Given the description of an element on the screen output the (x, y) to click on. 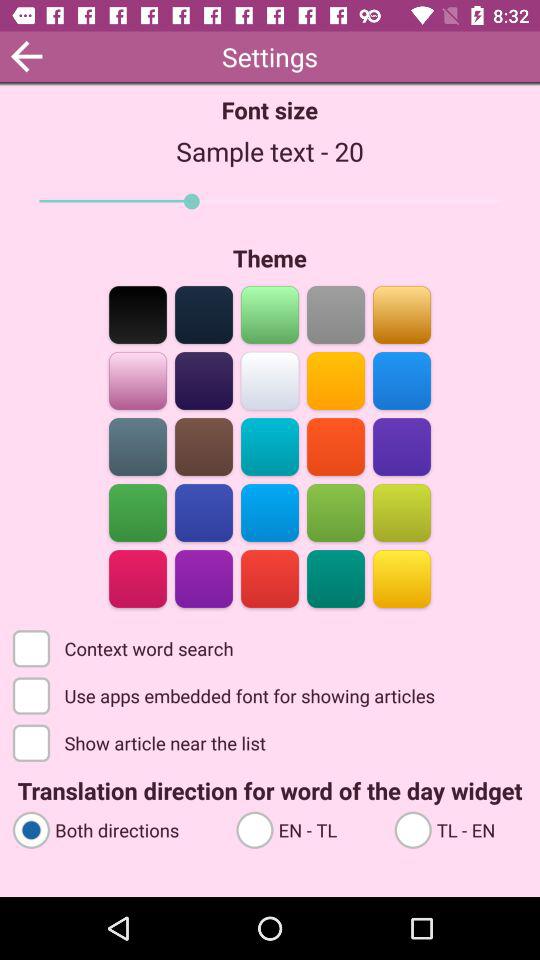
choose this color (269, 577)
